Given the description of an element on the screen output the (x, y) to click on. 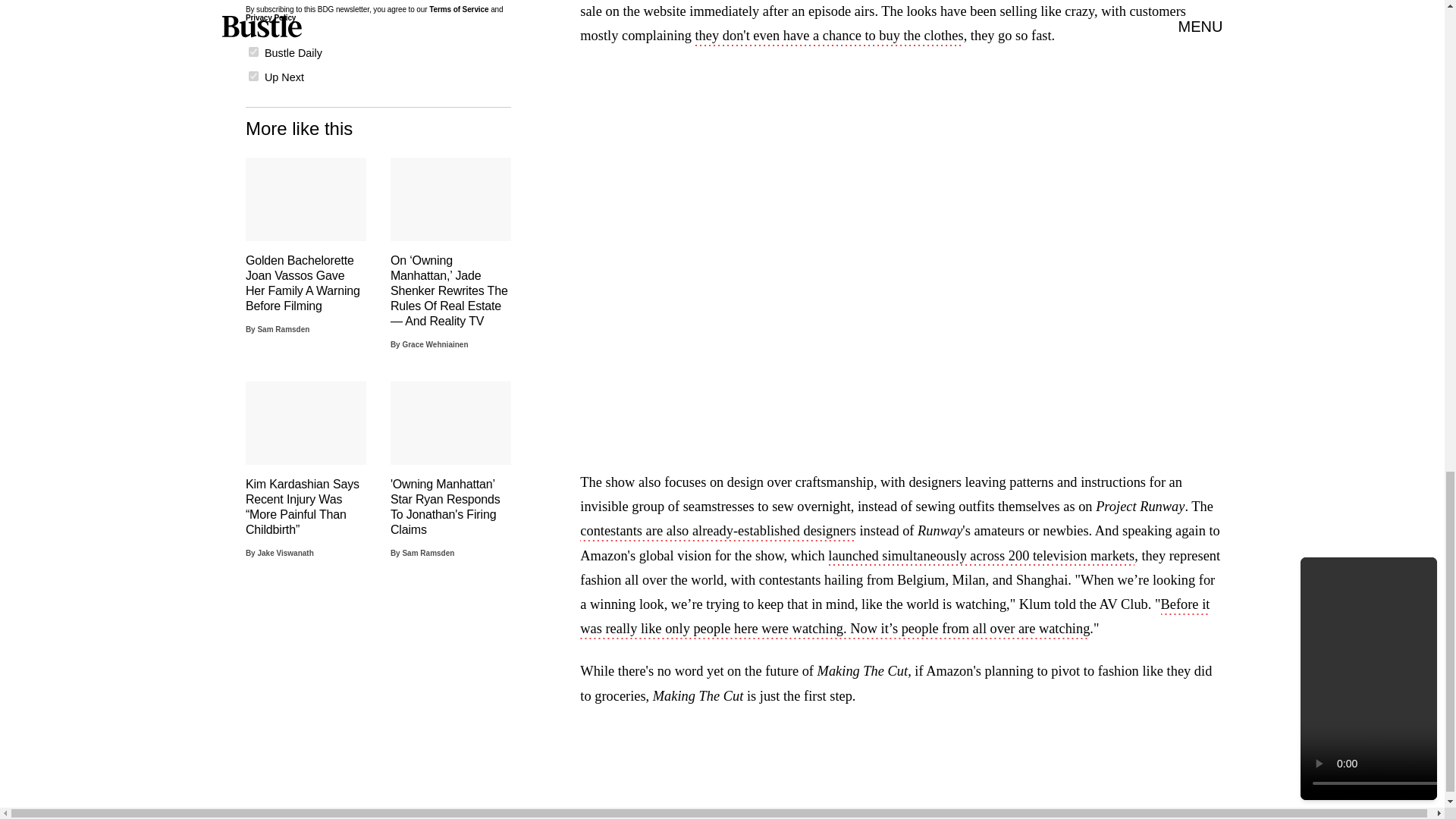
Privacy Policy (270, 17)
they don't even have a chance to buy the clothes (828, 36)
contestants are also already-established designers (717, 532)
launched simultaneously across 200 television markets (981, 556)
Terms of Service (458, 8)
